Given the description of an element on the screen output the (x, y) to click on. 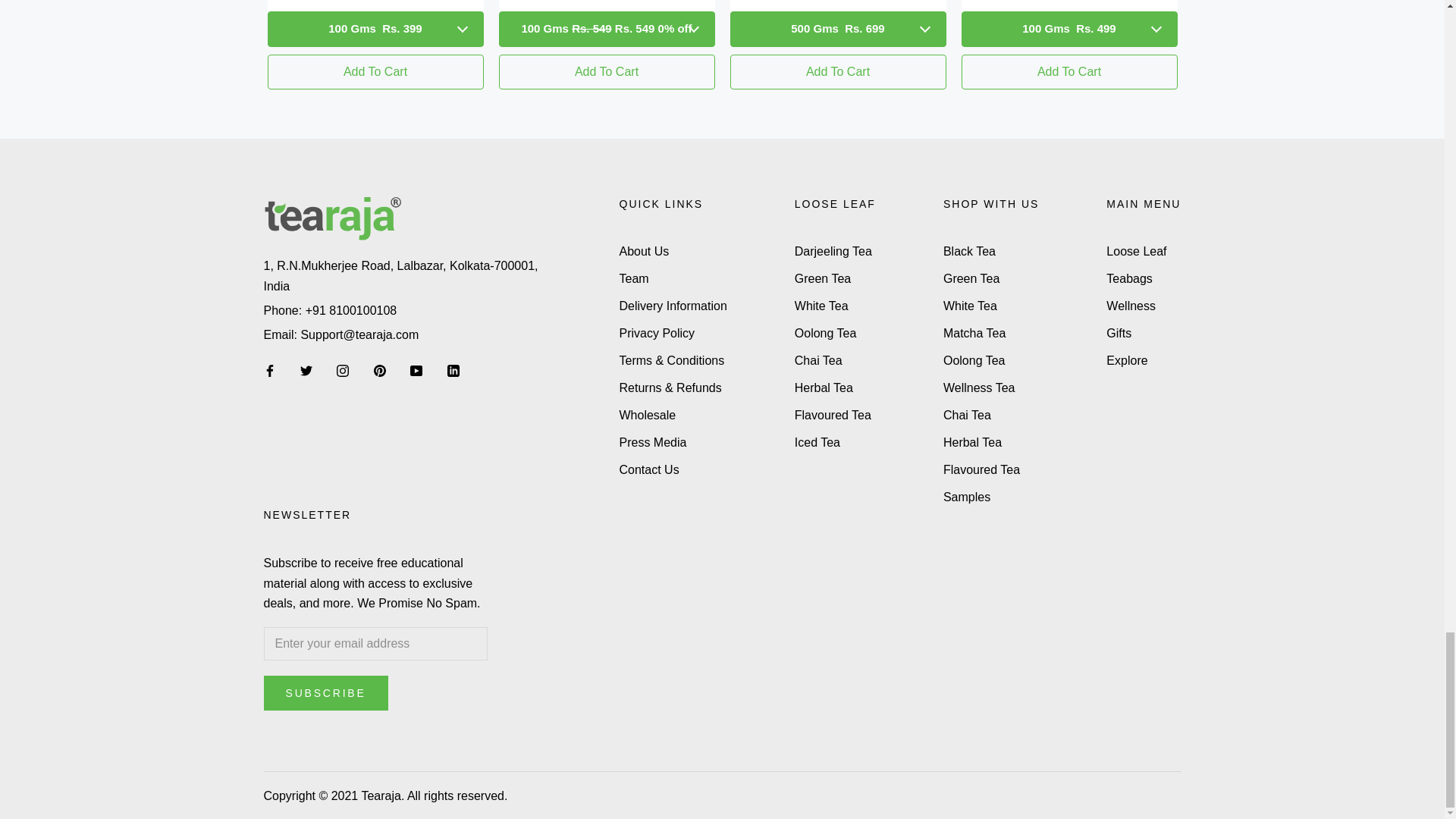
Add to cart (606, 71)
Add to cart (1068, 71)
Add to cart (836, 71)
Add to cart (374, 71)
